Given the description of an element on the screen output the (x, y) to click on. 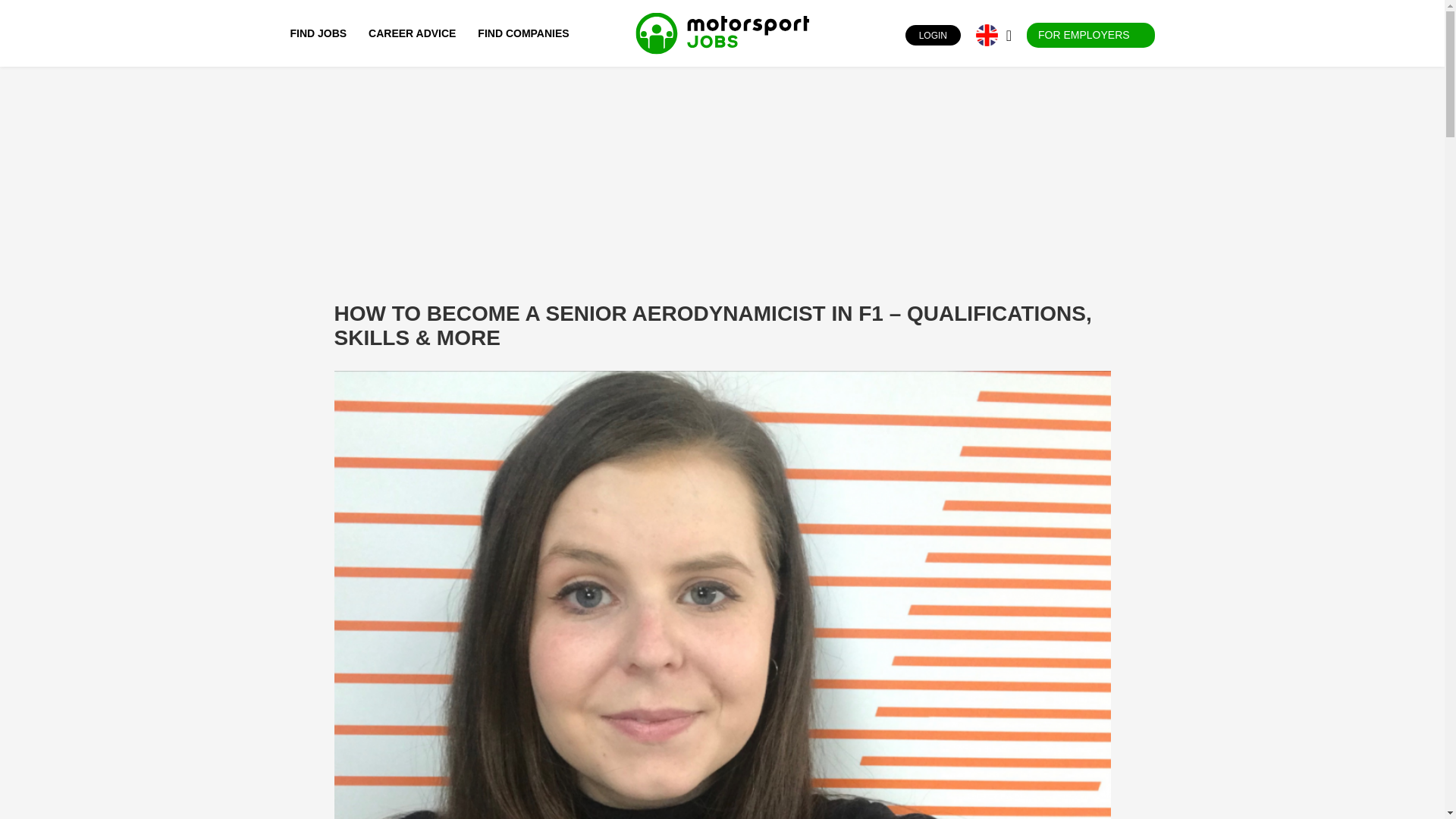
Motorsportjobs.com (721, 33)
FOR EMPLOYERS (1090, 34)
Change language (986, 34)
CAREER ADVICE (412, 32)
Login (891, 35)
FIND JOBS (321, 32)
FIND COMPANIES (523, 32)
